Given the description of an element on the screen output the (x, y) to click on. 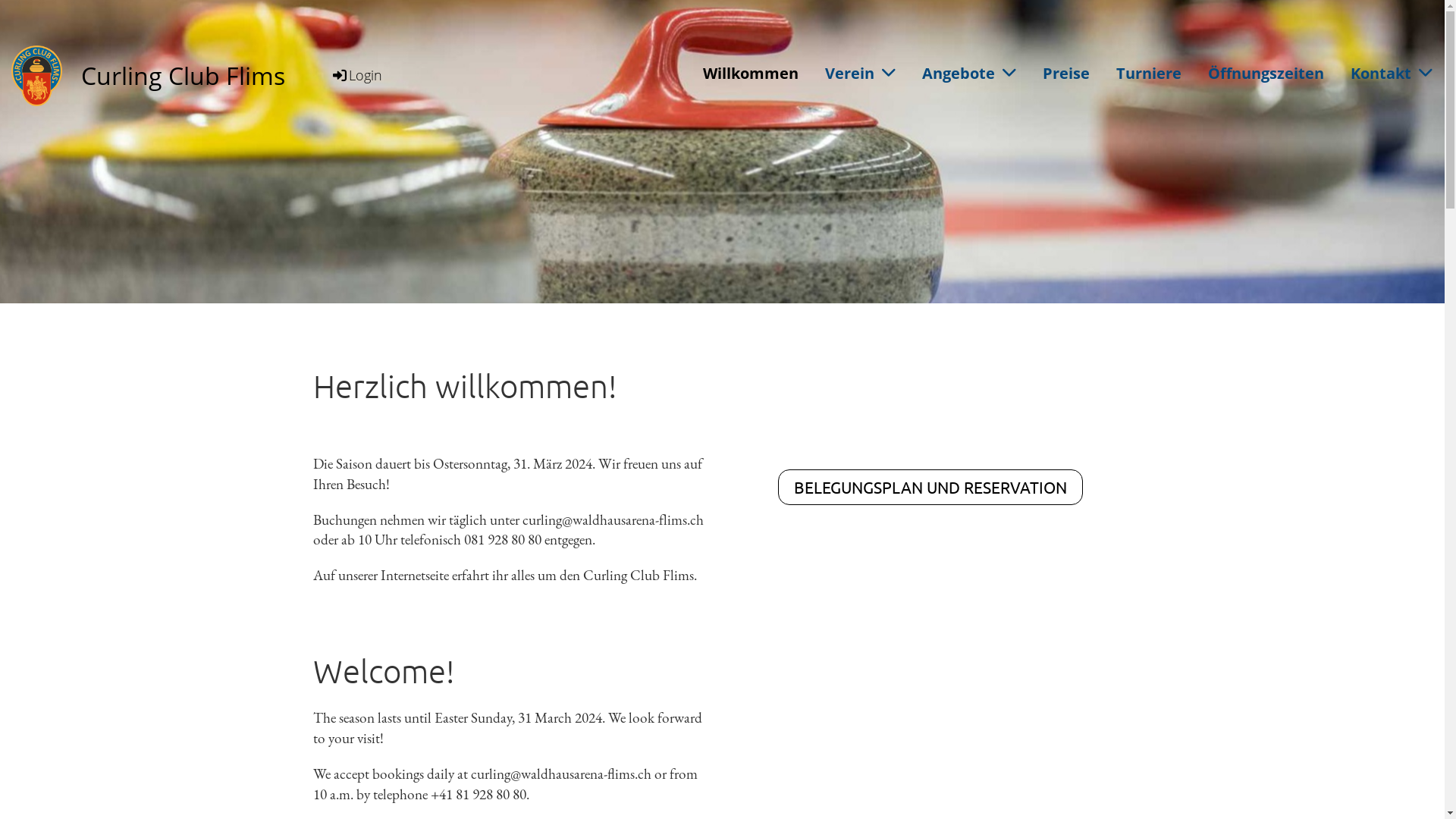
Turniere Element type: text (1148, 73)
Kontakt Element type: text (1391, 73)
BELEGUNGSPLAN UND RESERVATION Element type: text (930, 487)
Willkommen Element type: text (750, 73)
Verein Element type: text (859, 73)
Preise Element type: text (1065, 73)
Angebote Element type: text (969, 73)
Login Element type: text (356, 74)
Curling Club Flims Element type: text (183, 76)
